Given the description of an element on the screen output the (x, y) to click on. 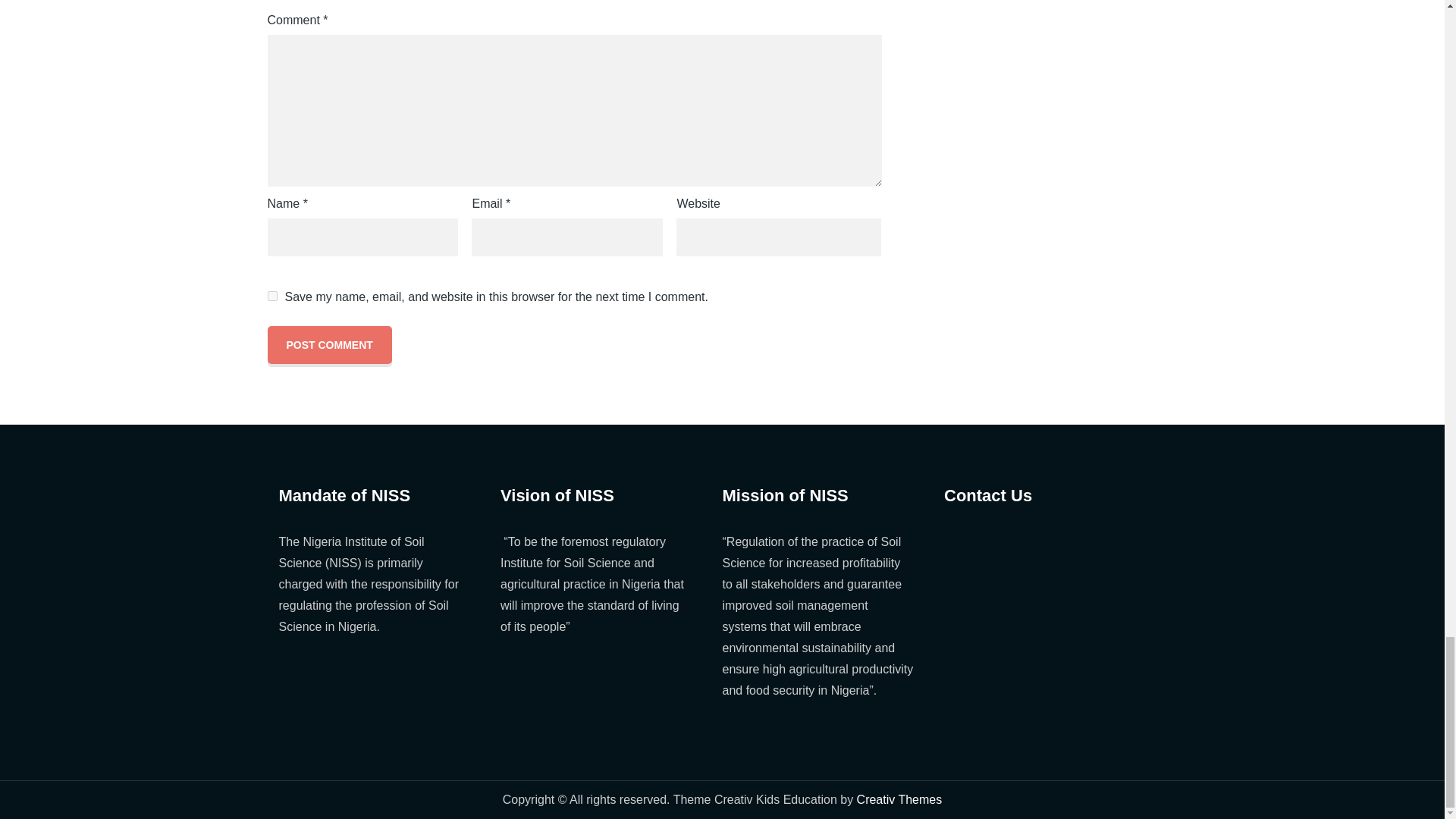
Post Comment (328, 344)
yes (271, 296)
